Given the description of an element on the screen output the (x, y) to click on. 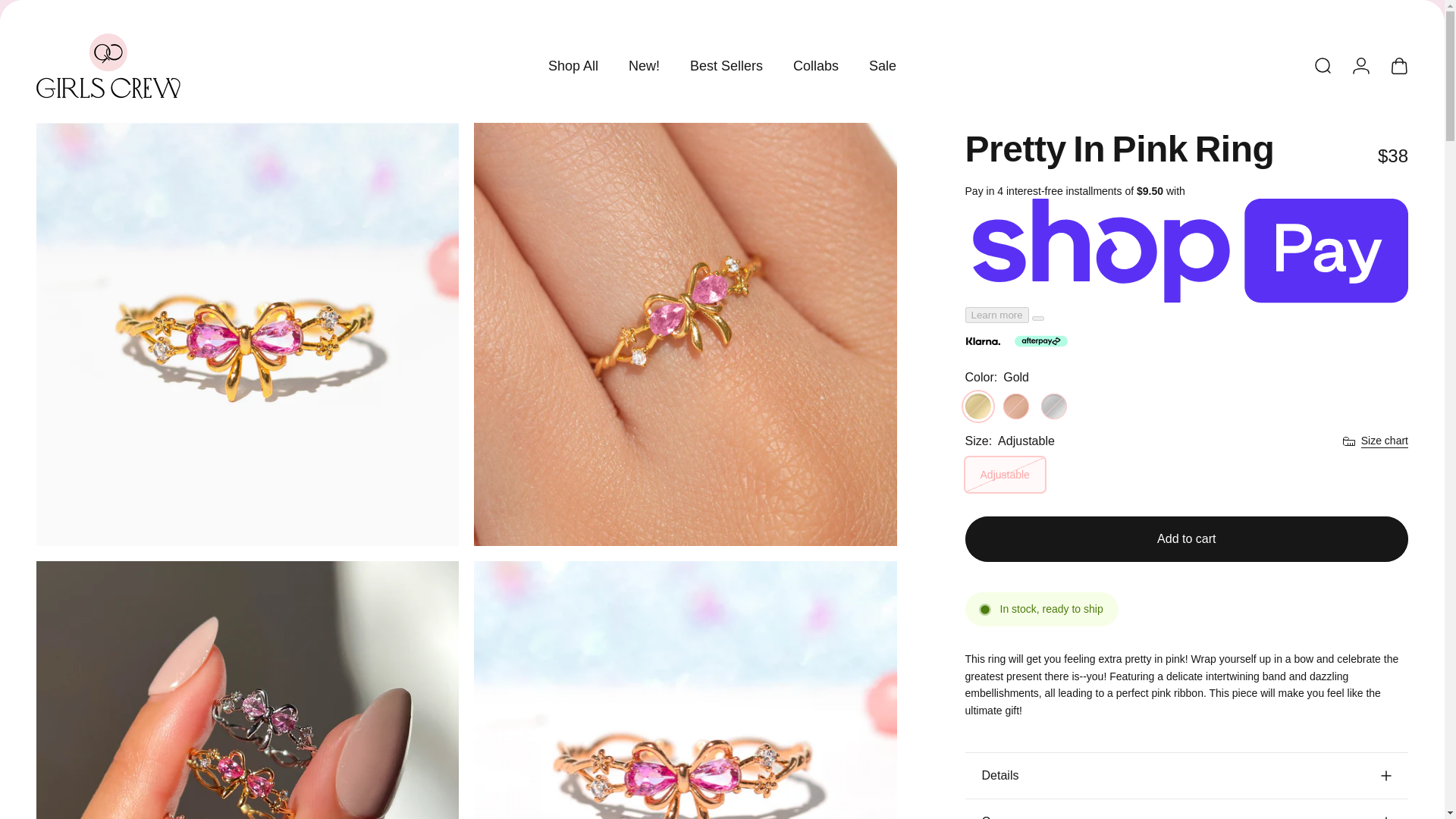
YouTube (76, 7)
Girls Crew (108, 65)
Gold (978, 406)
TikTok (110, 7)
Instagram (43, 7)
Girls Crew on YouTube (76, 7)
Girls Crew on TikTok (110, 7)
